Given the description of an element on the screen output the (x, y) to click on. 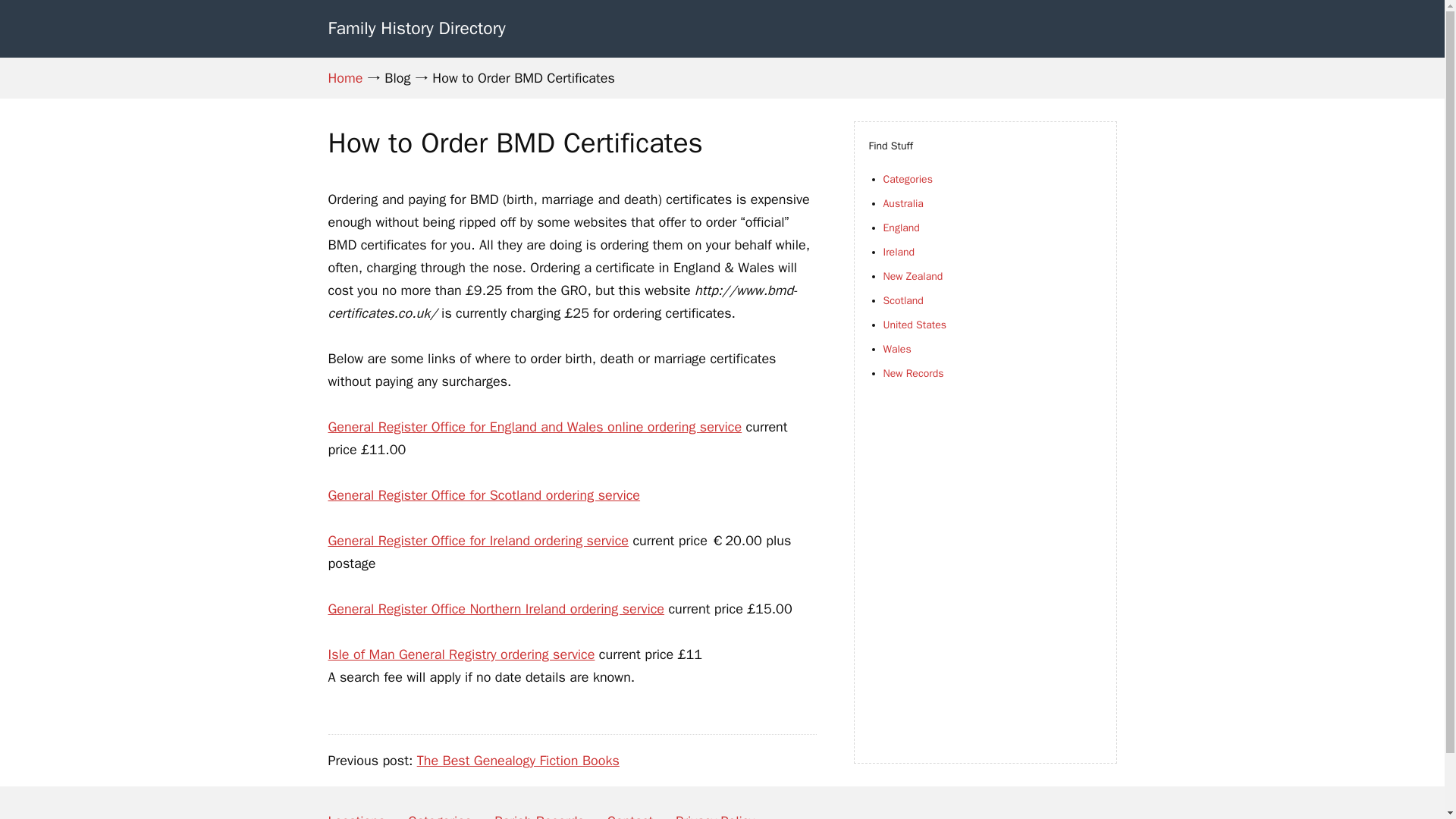
England (900, 227)
Blog (397, 77)
Privacy Policy (714, 809)
Australia (902, 203)
Scotland (902, 300)
The Best Genealogy Fiction Books (518, 760)
Ireland (898, 251)
United States (914, 324)
Parish Records (539, 809)
Contact (629, 809)
Wales (896, 349)
Categories (906, 178)
Home (344, 77)
General Register Office Northern Ireland ordering service (495, 608)
